Given the description of an element on the screen output the (x, y) to click on. 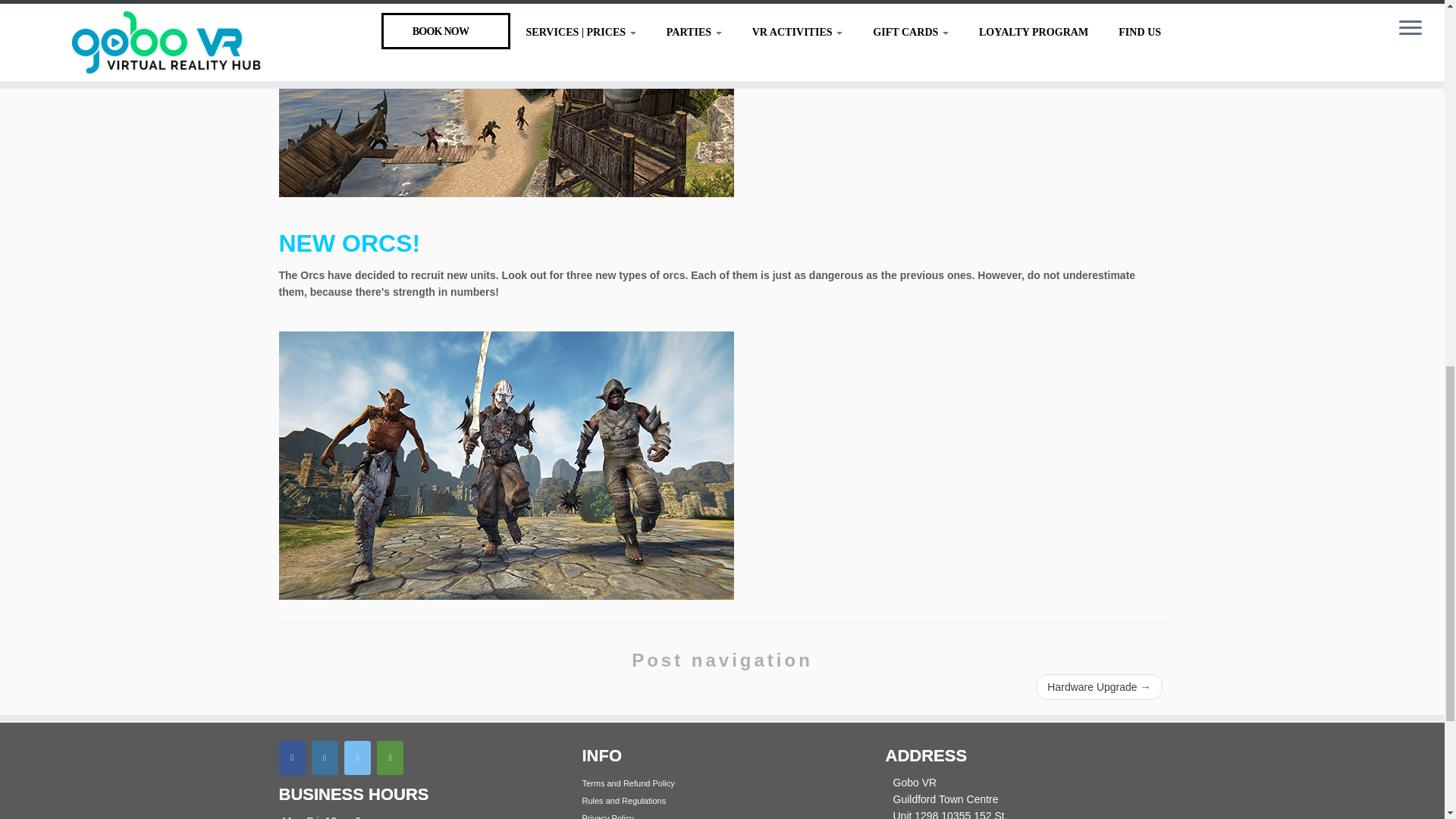
vr arcade vancouver (506, 465)
Terms and Refund Policy (628, 782)
vr gaming vancouver (506, 98)
